Given the description of an element on the screen output the (x, y) to click on. 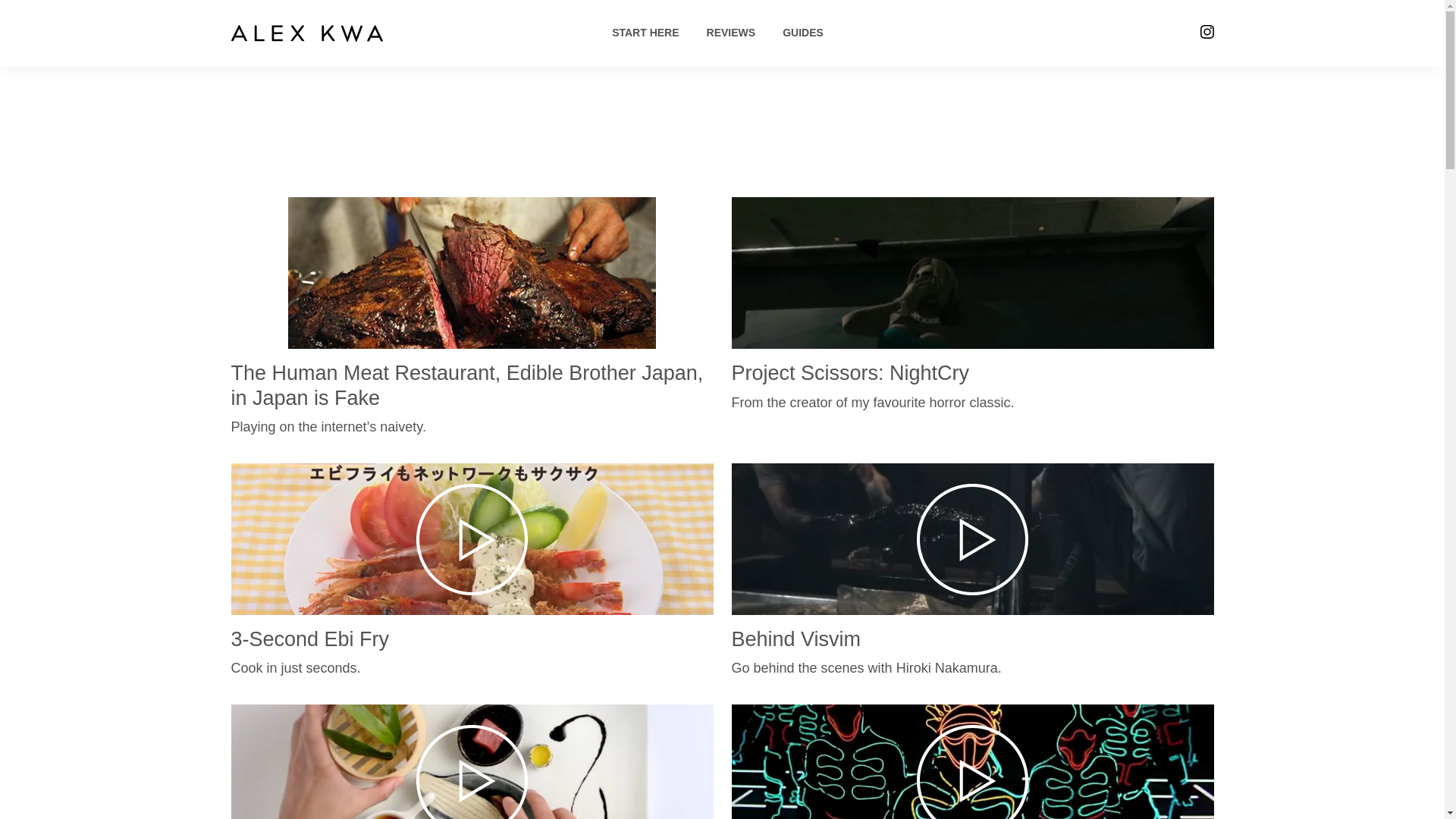
Behind Visvim (795, 639)
3-Second Ebi Fry (309, 639)
REVIEWS (730, 32)
Project Scissors: NightCry (849, 372)
START HERE (644, 32)
GUIDES (803, 32)
